Given the description of an element on the screen output the (x, y) to click on. 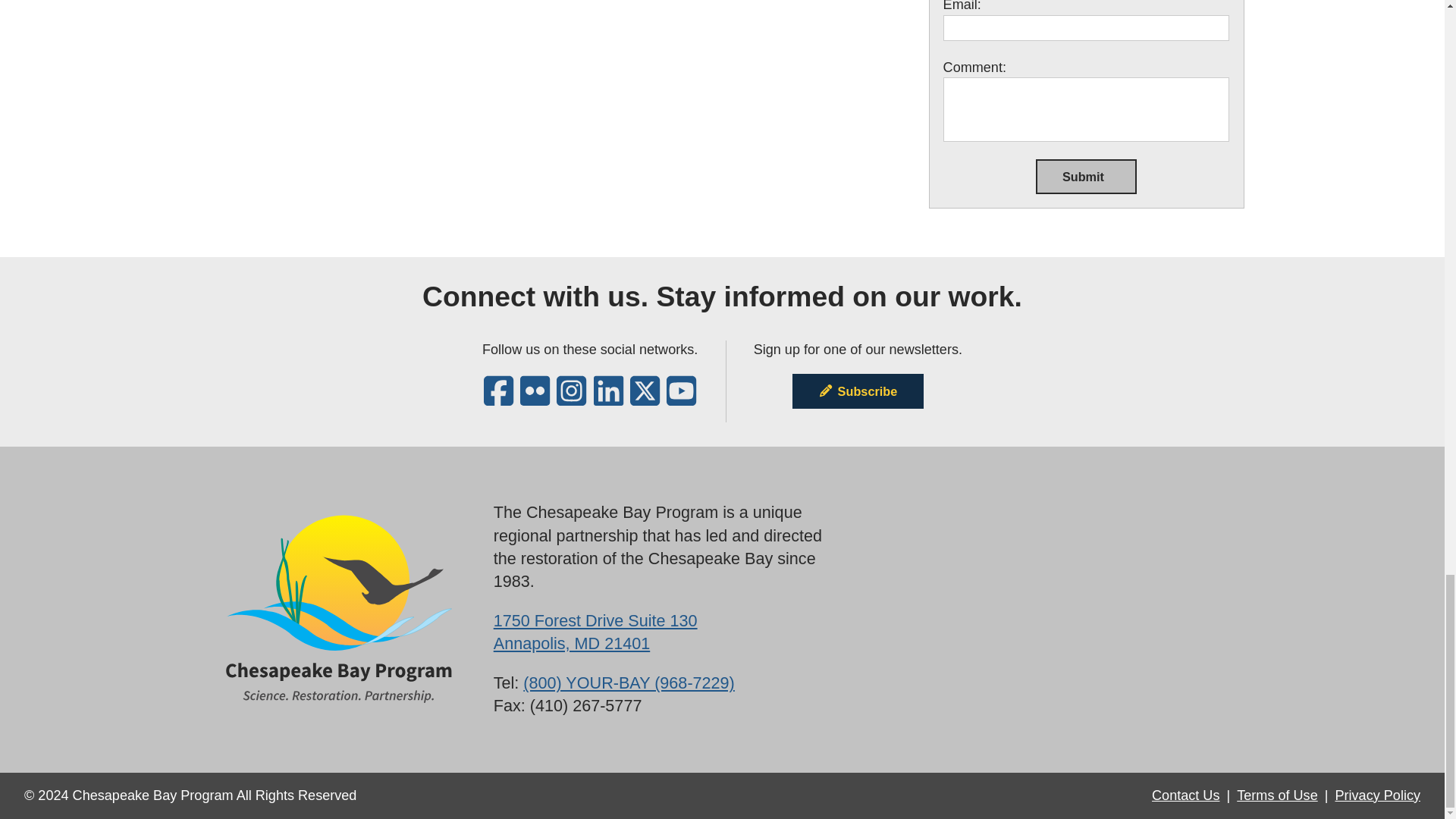
Visit us on Facebook (498, 398)
Visit us on YouTube (680, 398)
Follow us on X, formerly known as Twitter (644, 398)
Follow us on LinkedIn (608, 398)
Follow us on Instagram (571, 398)
View our photos on Flickr (534, 398)
